Given the description of an element on the screen output the (x, y) to click on. 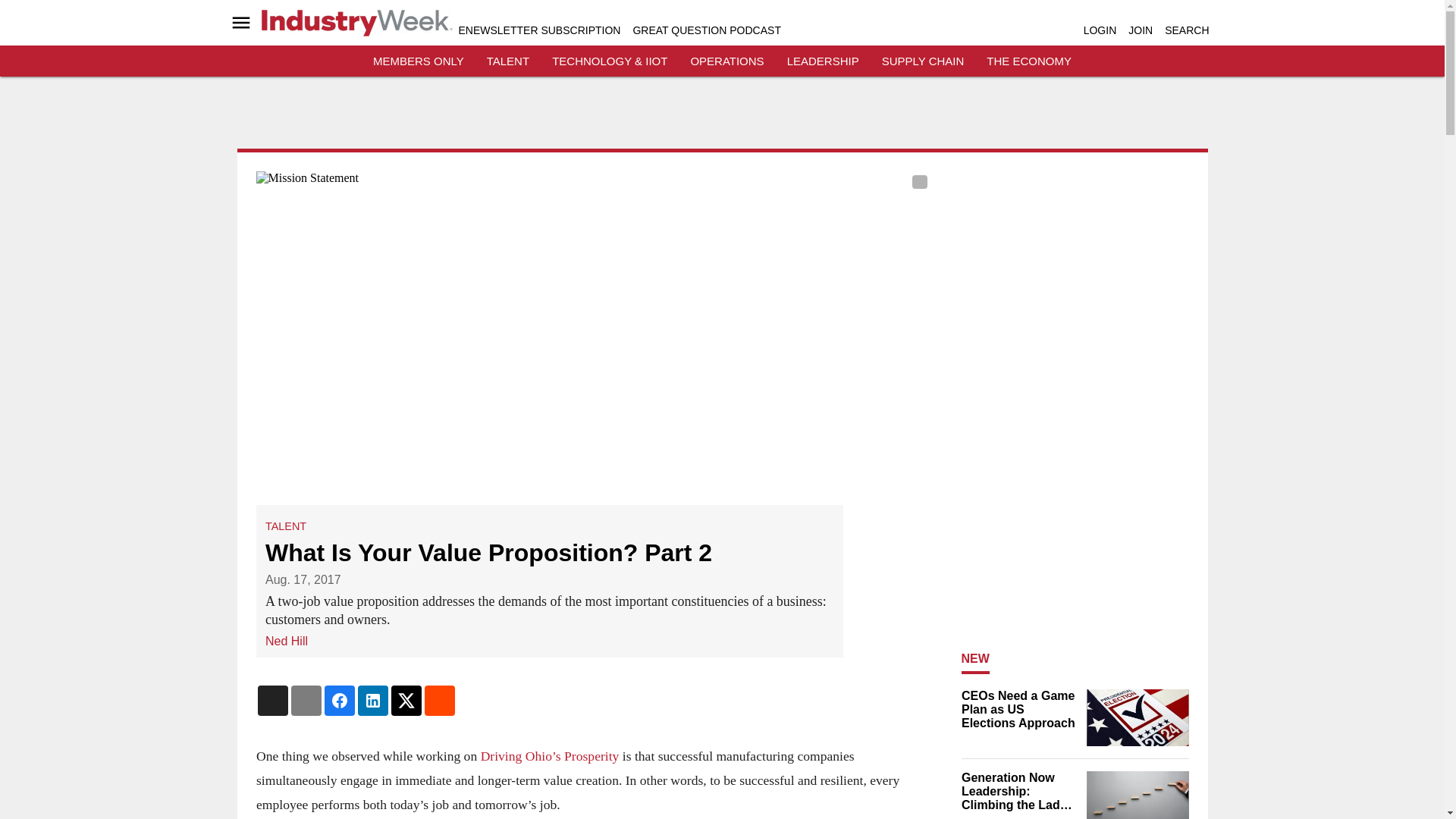
MEMBERS ONLY (418, 60)
THE ECONOMY (1029, 60)
SEARCH (1186, 30)
TALENT (507, 60)
LOGIN (1099, 30)
GREAT QUESTION PODCAST (705, 30)
OPERATIONS (726, 60)
LEADERSHIP (823, 60)
SUPPLY CHAIN (922, 60)
ENEWSLETTER SUBSCRIPTION (539, 30)
JOIN (1140, 30)
